Given the description of an element on the screen output the (x, y) to click on. 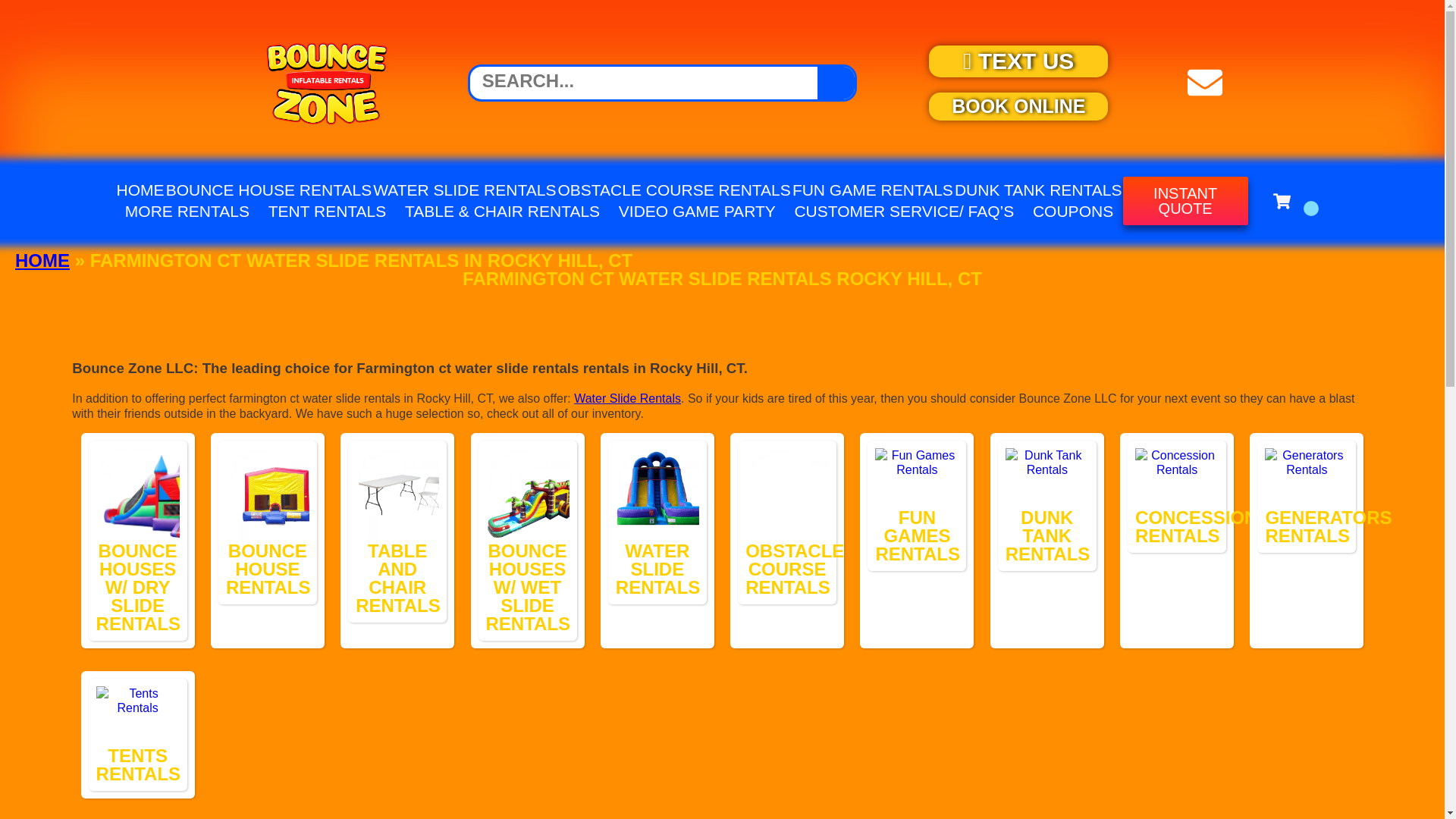
Obstacle Course Rentals (790, 492)
Tents Rentals (137, 716)
BOUNCE HOUSE RENTALS (268, 189)
Bounce House Rentals (271, 492)
HOME (139, 189)
BOOK ONLINE (1018, 106)
WATER SLIDE RENTALS (464, 189)
Table and Chair Rentals (400, 492)
Fun Games Rentals (916, 477)
Water Slide Rentals (660, 492)
